Given the description of an element on the screen output the (x, y) to click on. 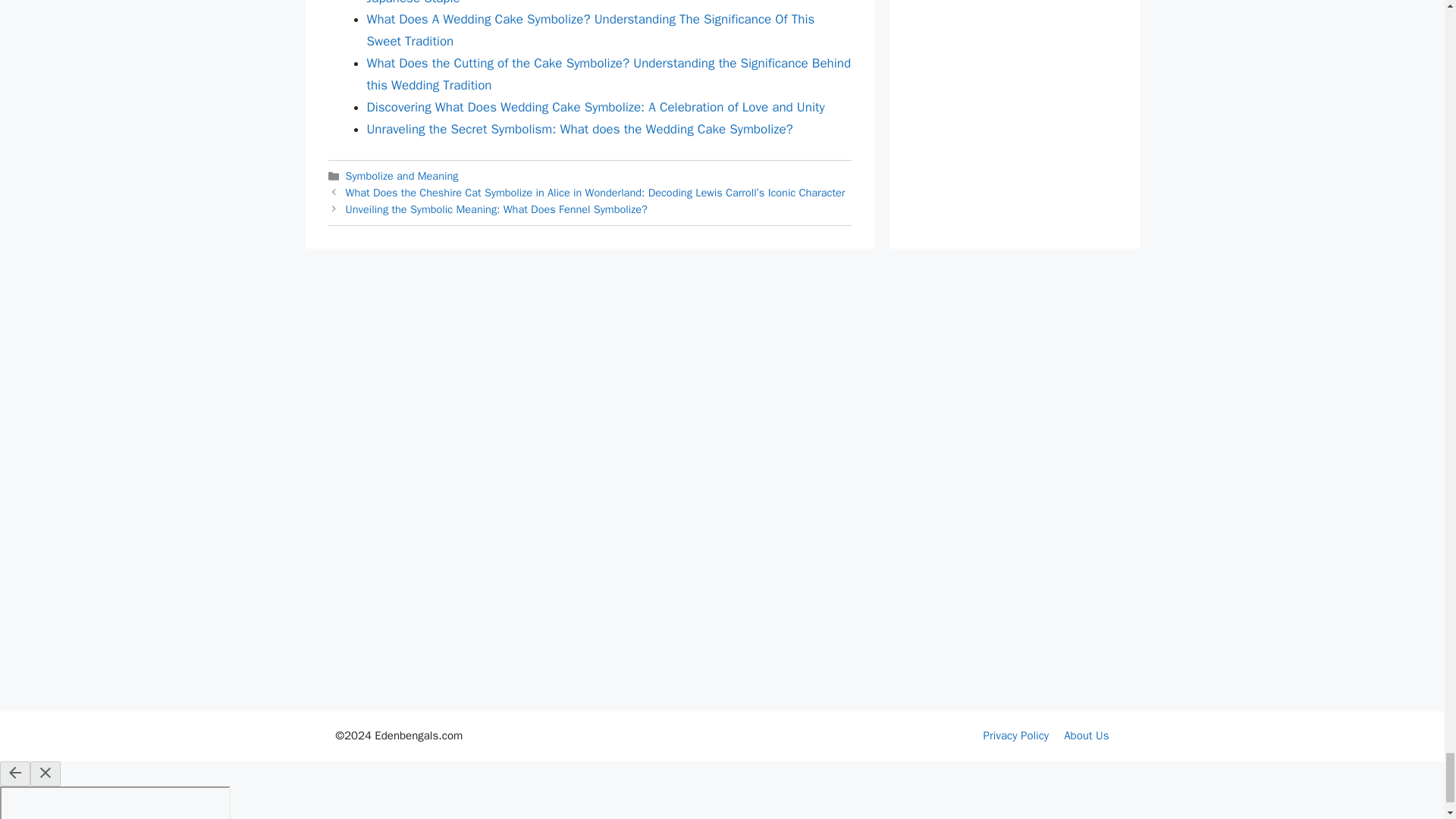
Privacy Policy (1016, 735)
Unveiling the Symbolic Meaning: What Does Fennel Symbolize? (496, 209)
About Us (1086, 735)
Symbolize and Meaning (402, 175)
